Given the description of an element on the screen output the (x, y) to click on. 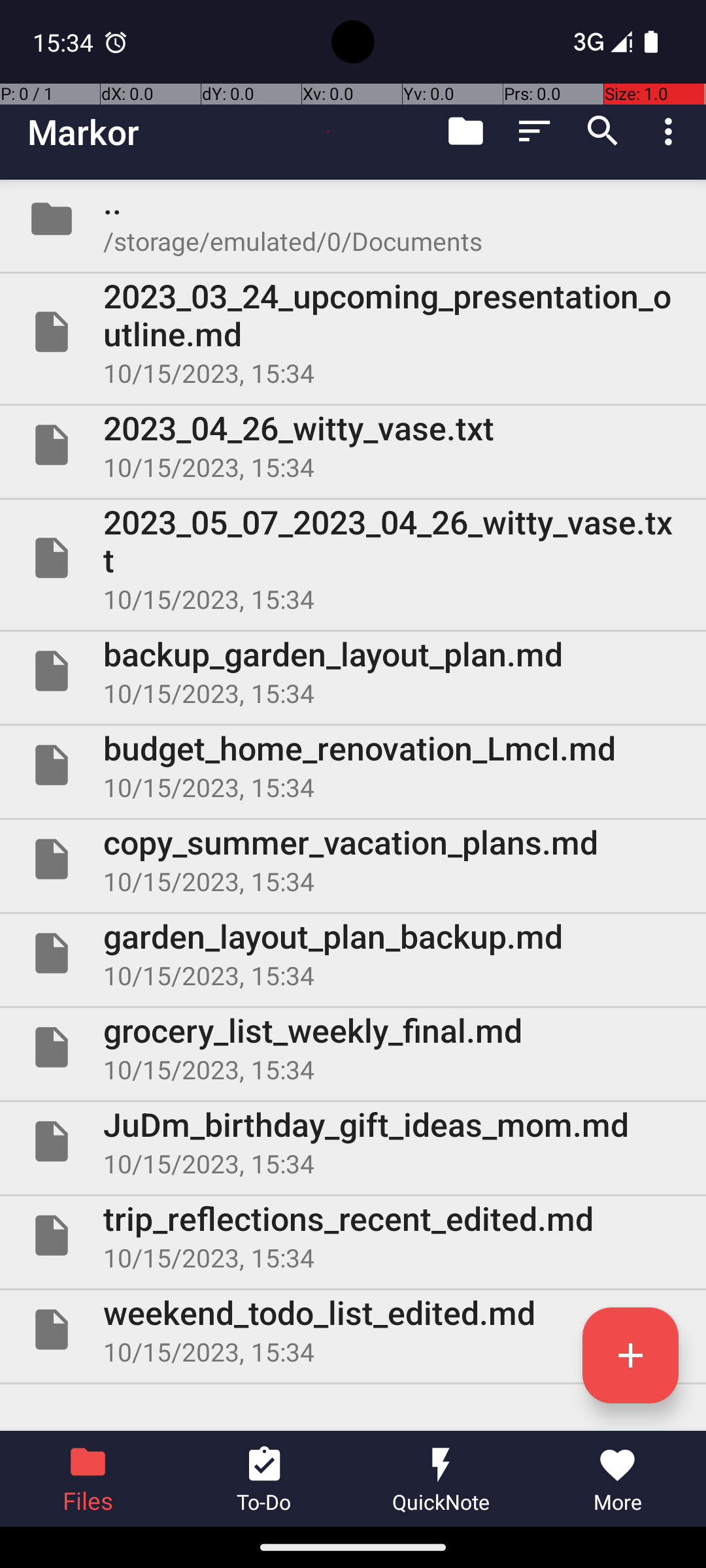
File 2023_03_24_upcoming_presentation_outline.md  Element type: android.widget.LinearLayout (353, 331)
File 2023_04_26_witty_vase.txt  Element type: android.widget.LinearLayout (353, 444)
File 2023_05_07_2023_04_26_witty_vase.txt  Element type: android.widget.LinearLayout (353, 557)
File backup_garden_layout_plan.md  Element type: android.widget.LinearLayout (353, 670)
File budget_home_renovation_LmcI.md  Element type: android.widget.LinearLayout (353, 764)
File copy_summer_vacation_plans.md  Element type: android.widget.LinearLayout (353, 858)
File garden_layout_plan_backup.md  Element type: android.widget.LinearLayout (353, 953)
File grocery_list_weekly_final.md  Element type: android.widget.LinearLayout (353, 1047)
File JuDm_birthday_gift_ideas_mom.md  Element type: android.widget.LinearLayout (353, 1141)
File trip_reflections_recent_edited.md  Element type: android.widget.LinearLayout (353, 1235)
File weekend_todo_list_edited.md  Element type: android.widget.LinearLayout (353, 1329)
